Given the description of an element on the screen output the (x, y) to click on. 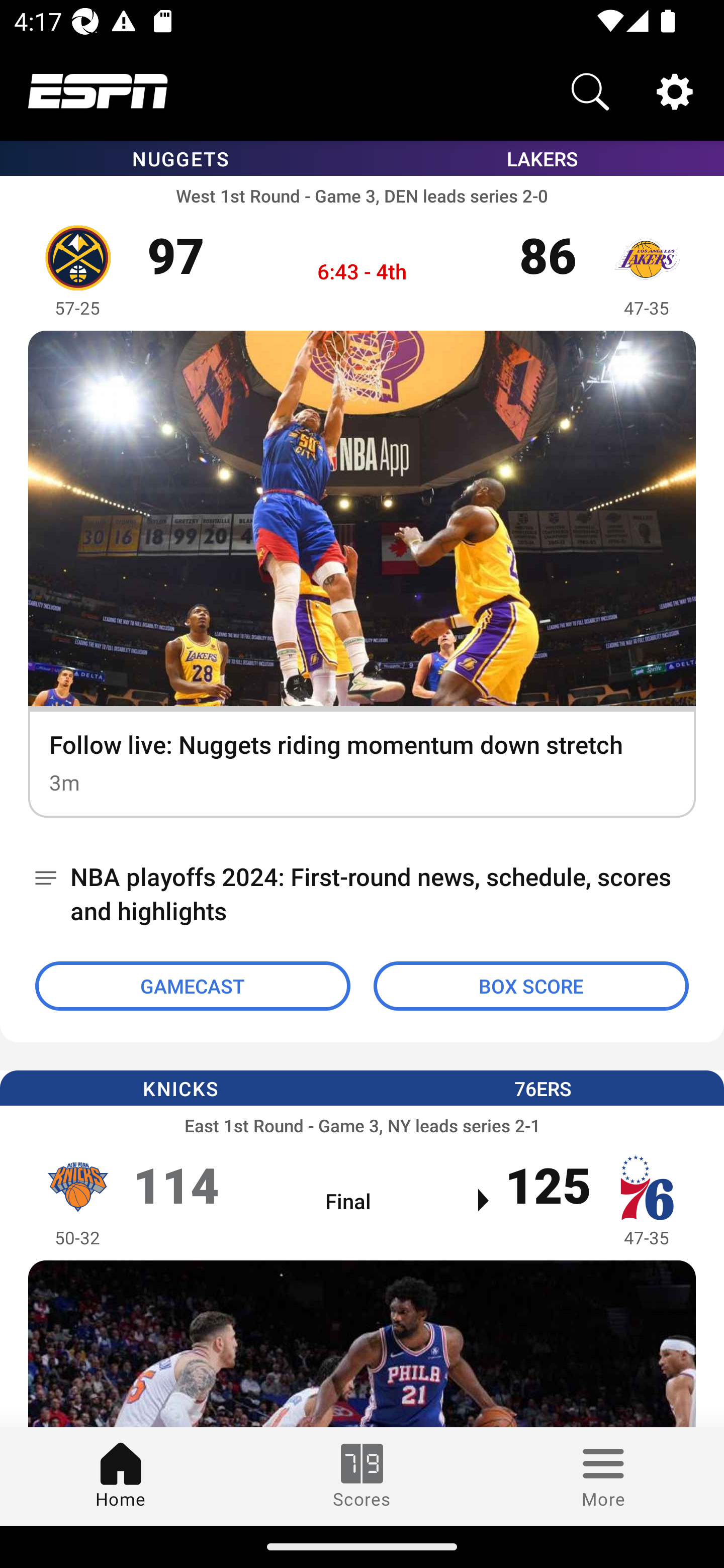
Search (590, 90)
Settings (674, 90)
GAMECAST (192, 986)
BOX SCORE (530, 986)
Scores (361, 1475)
More (603, 1475)
